Given the description of an element on the screen output the (x, y) to click on. 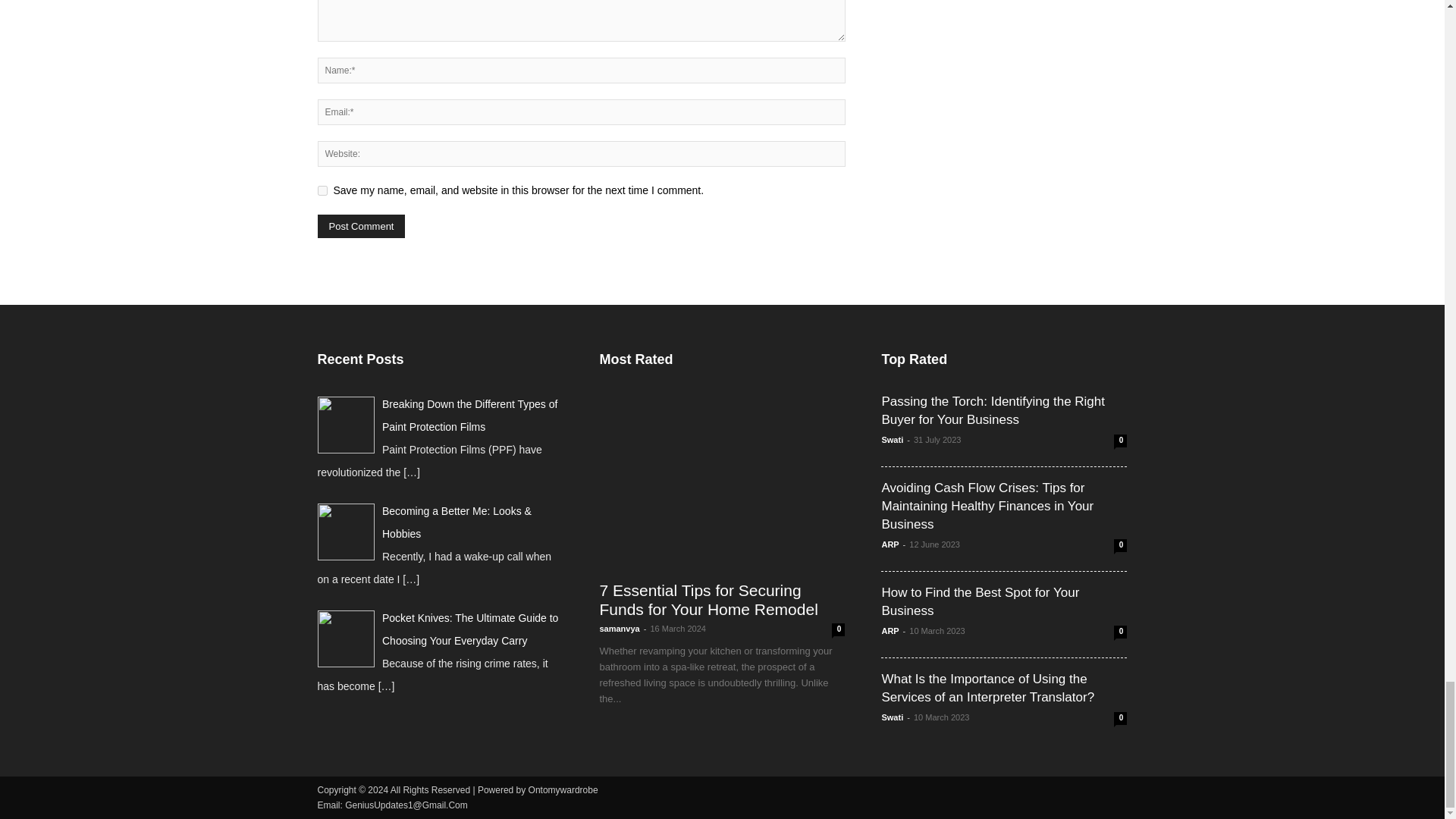
Post Comment (360, 226)
yes (321, 190)
